Given the description of an element on the screen output the (x, y) to click on. 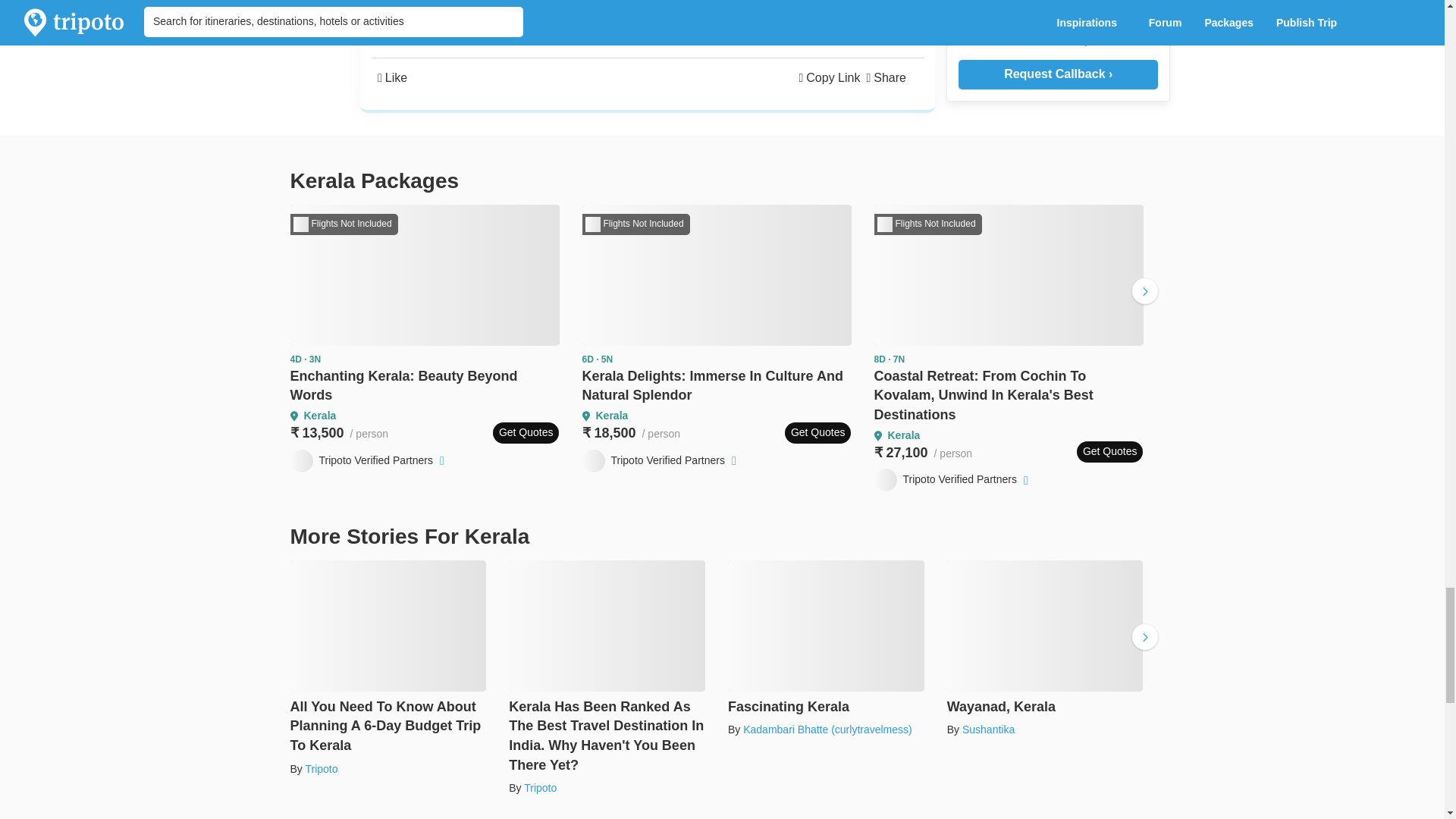
Get Quotes (1109, 451)
Tripoto Verified Partners (367, 460)
Tripoto Verified Partners (660, 460)
Get Quotes (526, 432)
Get Quotes (817, 432)
